Given the description of an element on the screen output the (x, y) to click on. 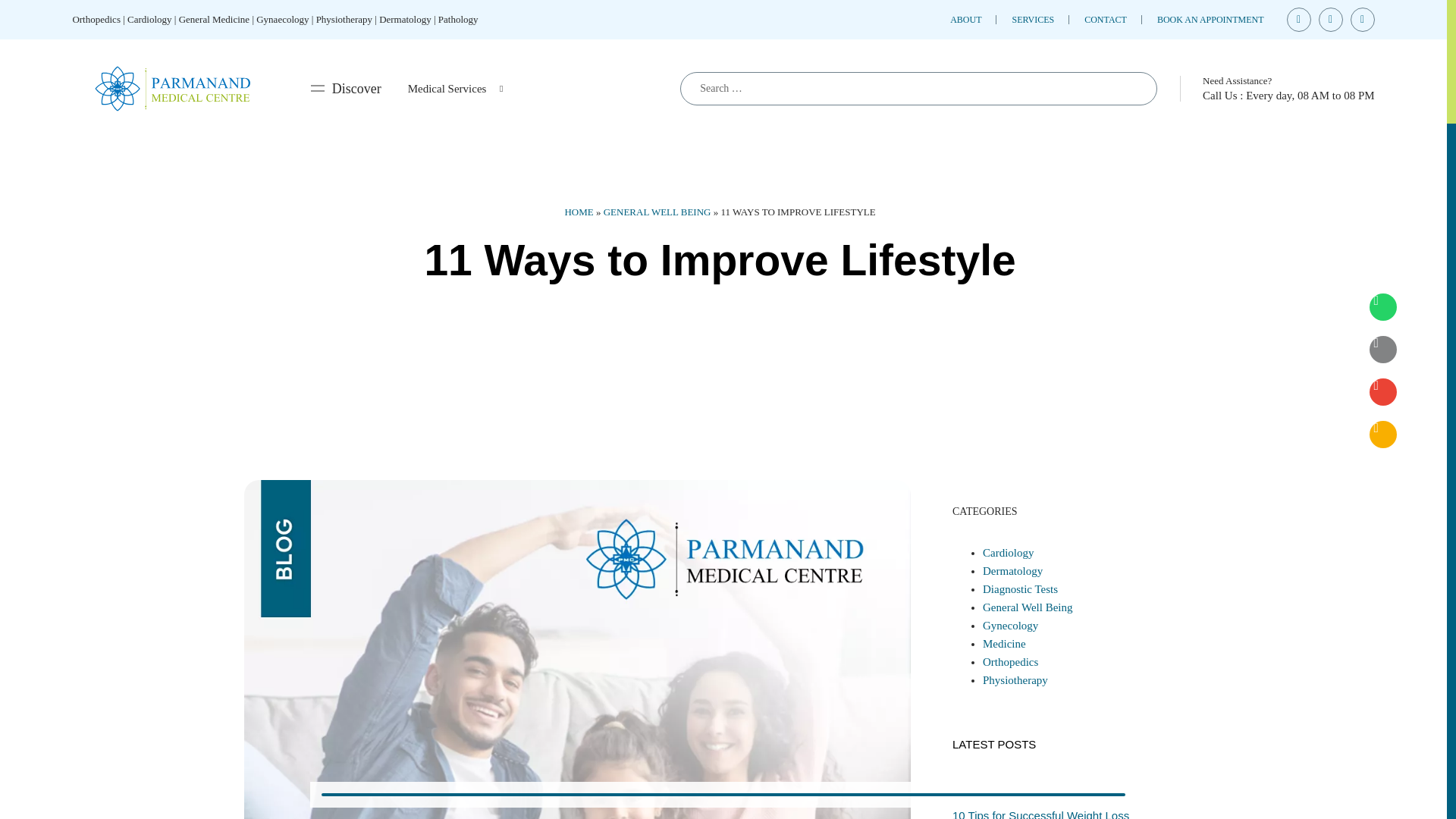
CONTACT (1105, 19)
ABOUT (965, 19)
Call Us : Every day, 08 AM to 08 PM (1288, 95)
GENERAL WELL BEING (657, 211)
SERVICES (1032, 19)
Discover (346, 88)
Search (1130, 88)
BOOK AN APPOINTMENT (1210, 19)
Medical Services (455, 87)
HOME (578, 211)
